Given the description of an element on the screen output the (x, y) to click on. 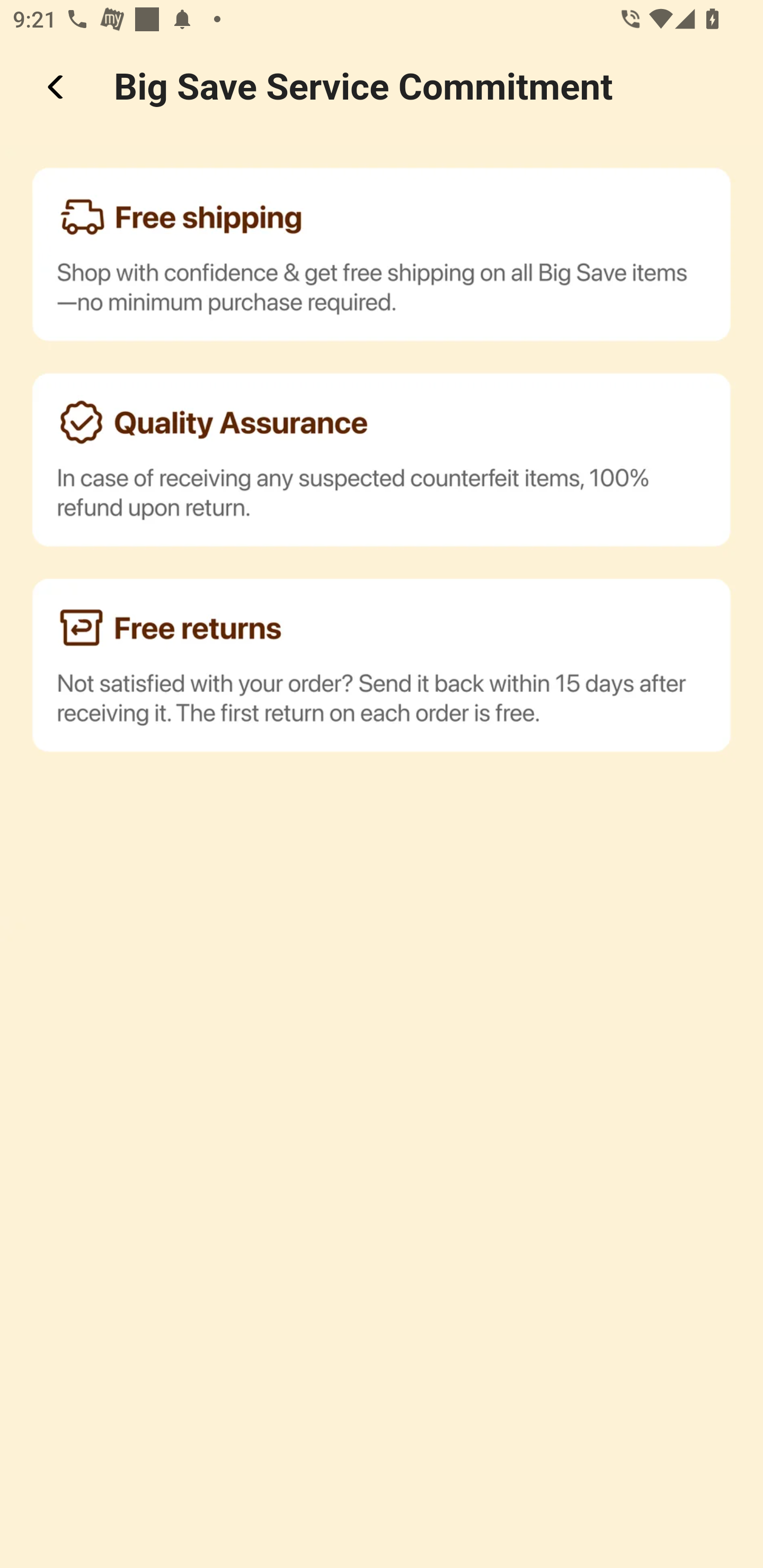
 (57, 86)
